Given the description of an element on the screen output the (x, y) to click on. 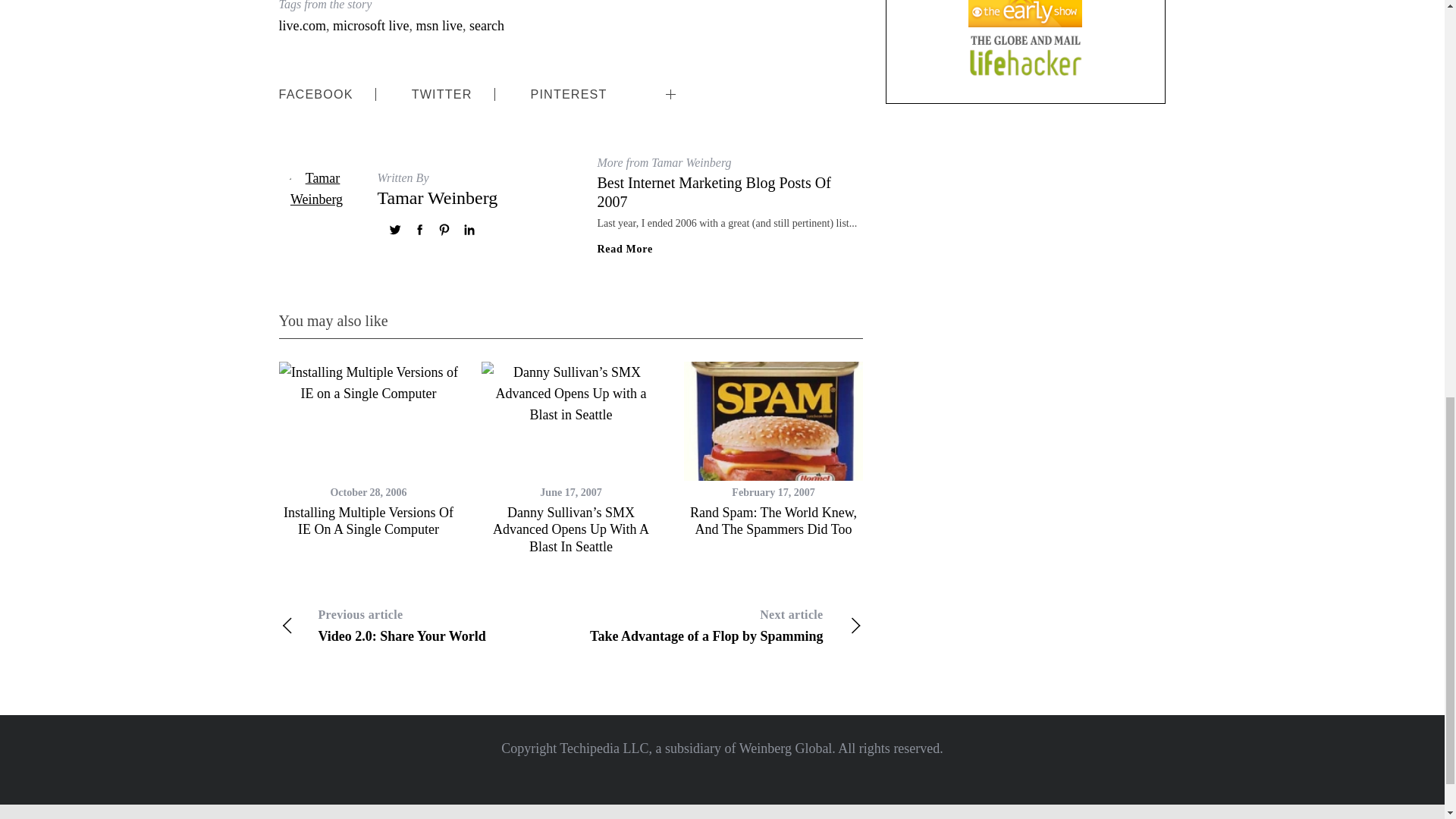
search (485, 25)
TWITTER (441, 94)
FACEBOOK (715, 625)
LINKEDIN (316, 94)
Best Internet Marketing Blog Posts Of 2007 (714, 82)
Read More (713, 191)
live.com (624, 249)
Installing Multiple Versions Of IE On A Single Computer (302, 25)
